Given the description of an element on the screen output the (x, y) to click on. 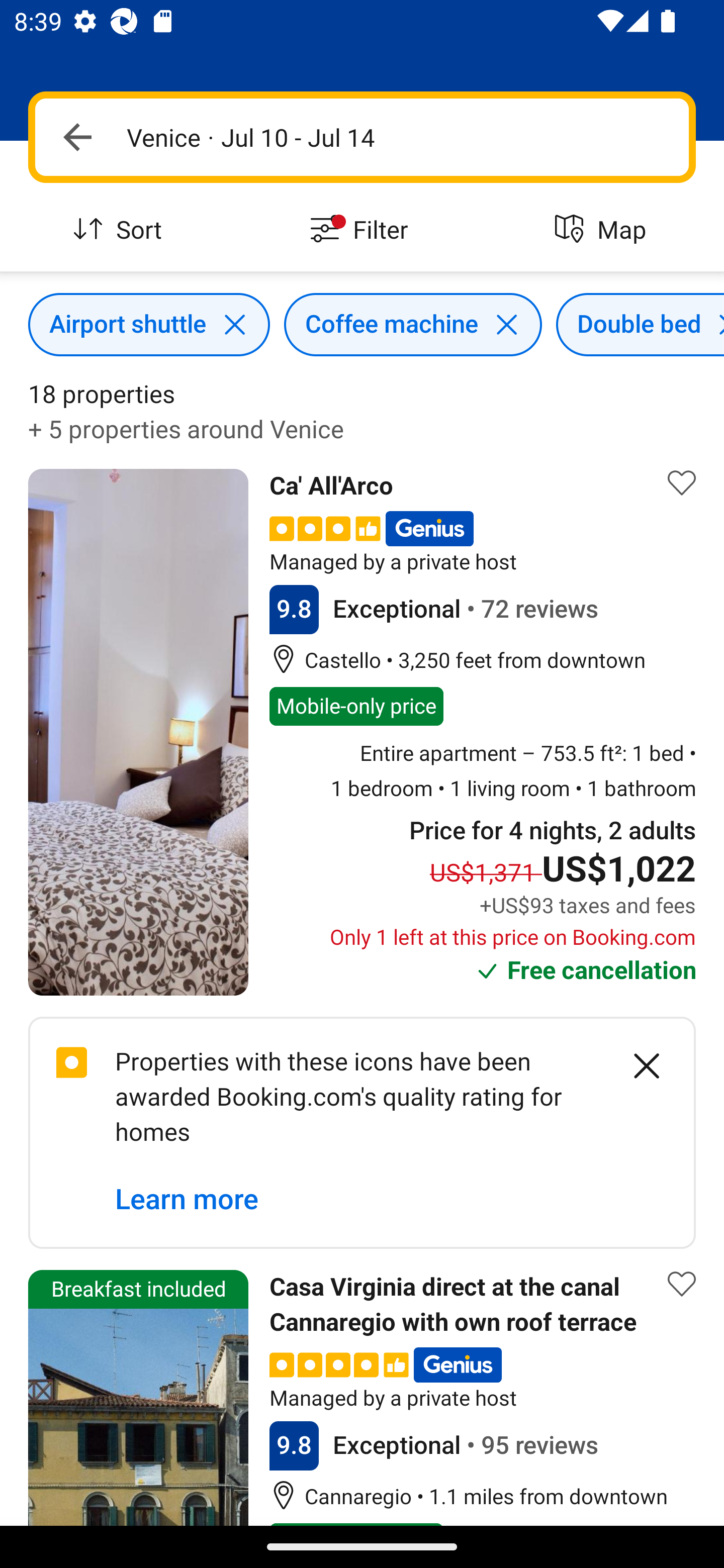
Navigate up Venice · Jul 10 - Jul 14 (362, 136)
Navigate up (77, 136)
Sort (120, 230)
Filter (361, 230)
Map (603, 230)
Save property to list (681, 482)
Clear (635, 1065)
Learn more (187, 1199)
Save property to list (681, 1283)
